Given the description of an element on the screen output the (x, y) to click on. 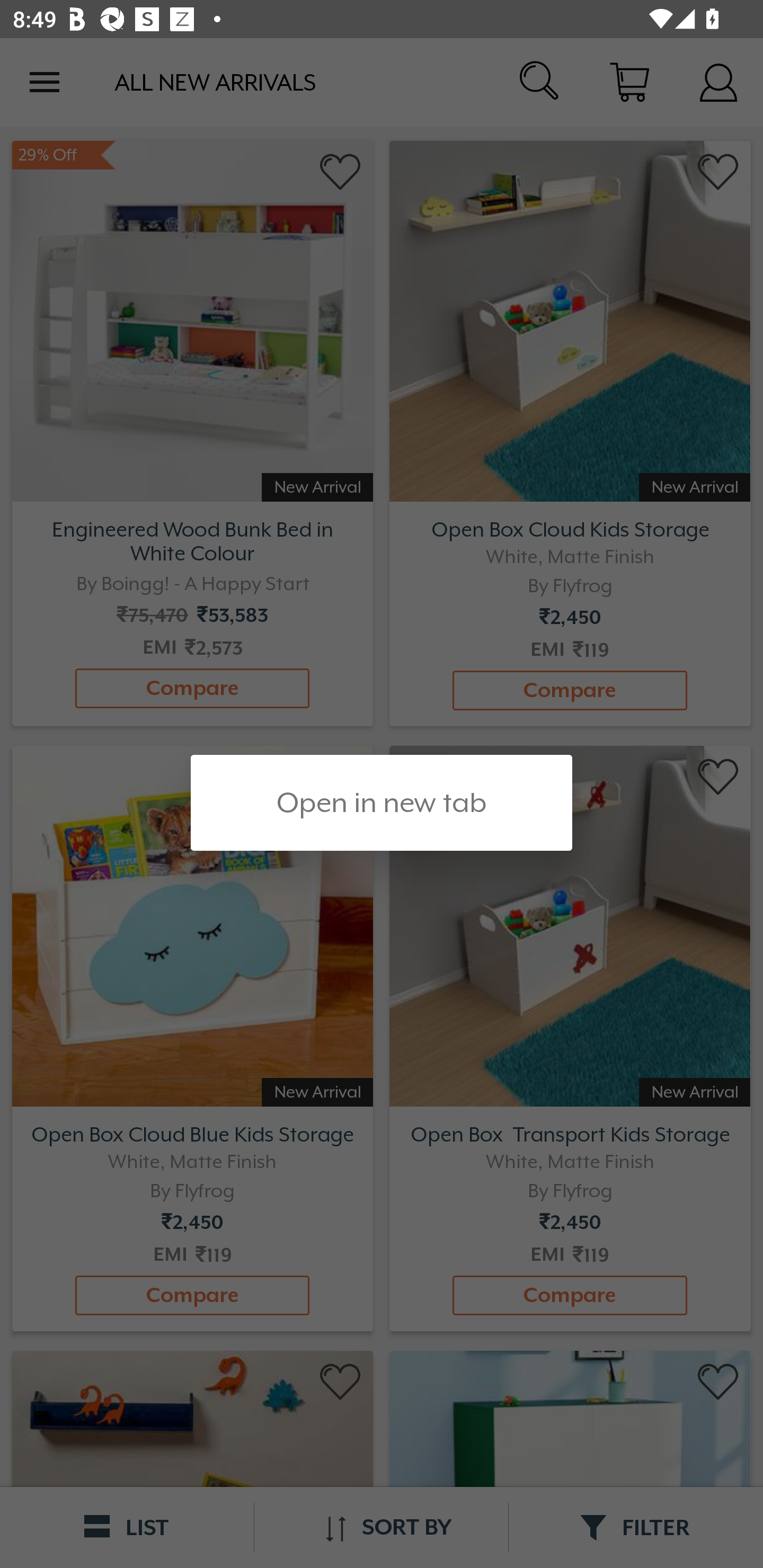
Open in new tab (381, 802)
